Given the description of an element on the screen output the (x, y) to click on. 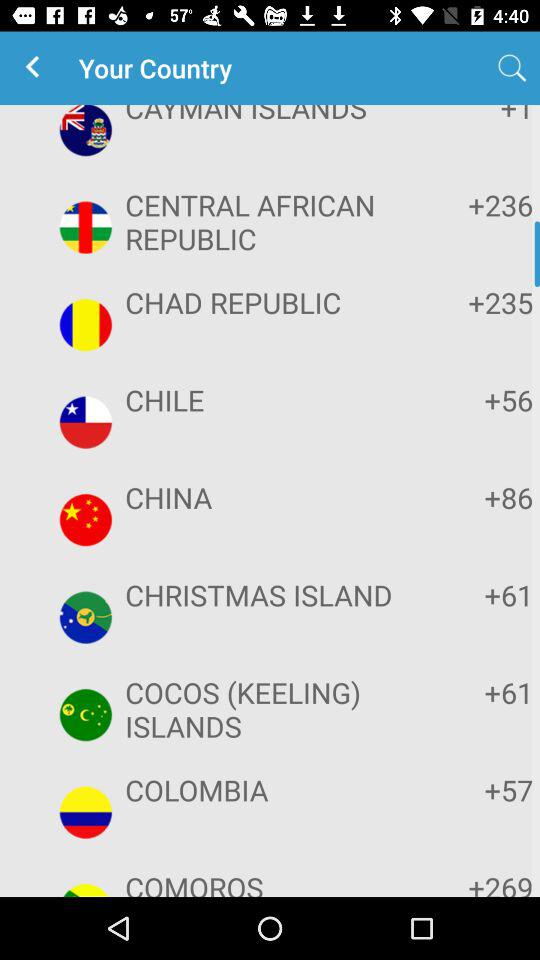
launch icon to the right of colombia app (471, 789)
